Given the description of an element on the screen output the (x, y) to click on. 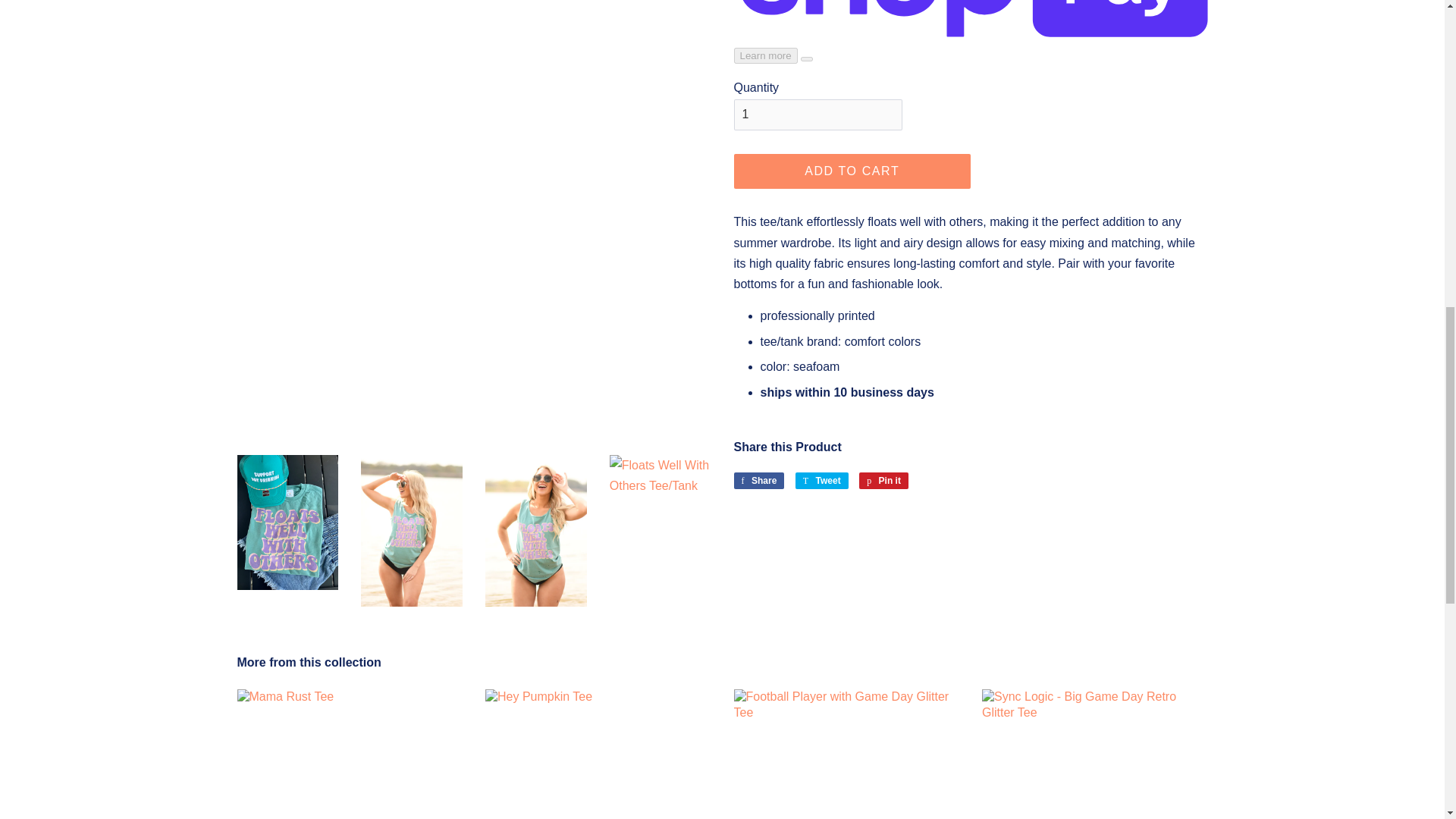
Pin on Pinterest (821, 480)
1 (883, 480)
Share on Facebook (883, 480)
Tweet on Twitter (817, 114)
ADD TO CART (758, 480)
